Given the description of an element on the screen output the (x, y) to click on. 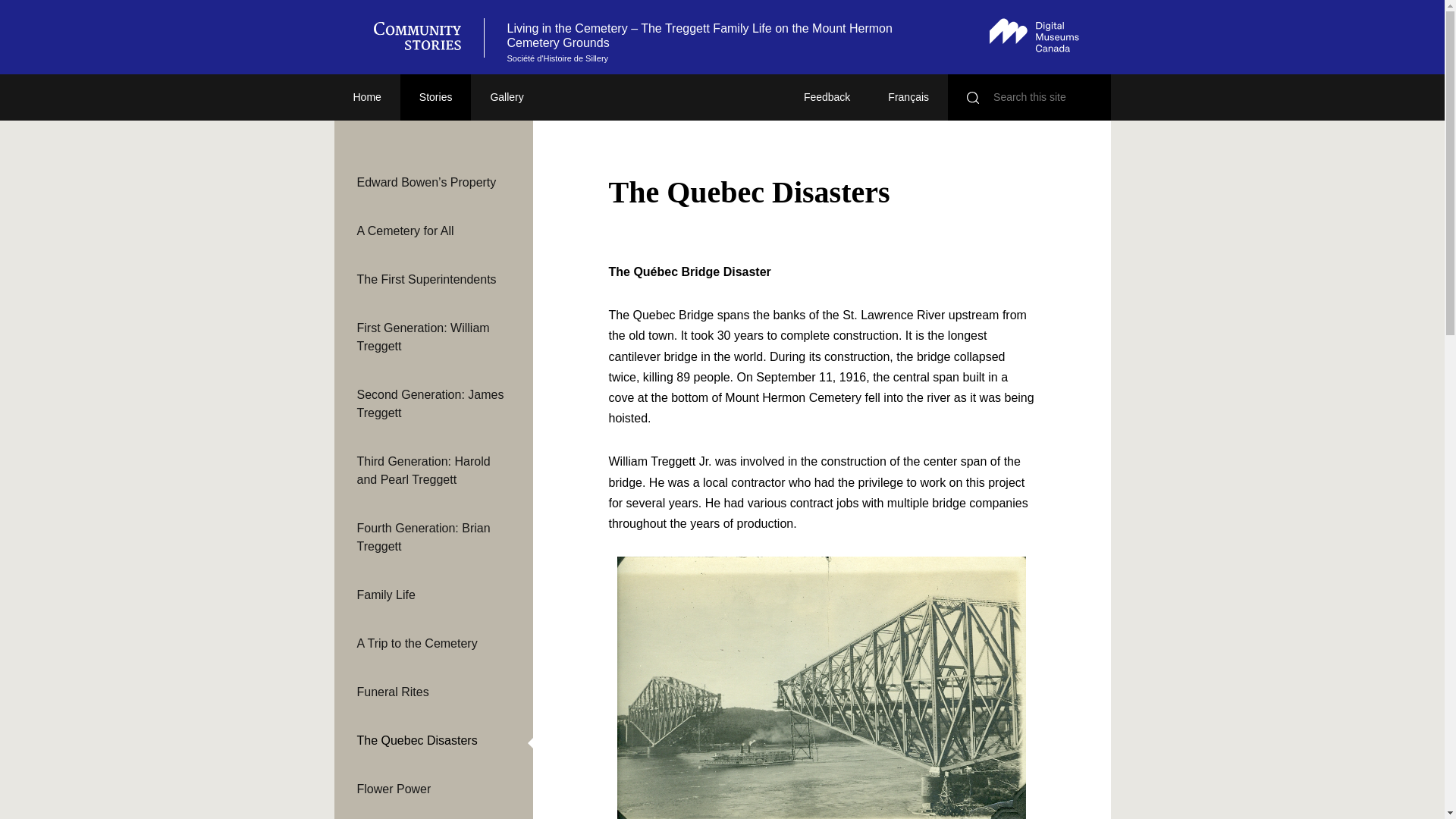
Community Stories (424, 37)
Gallery (505, 97)
The First Superintendents (432, 280)
Third Generation: Harold and Pearl Treggett (432, 470)
Digital Museums Canada (1034, 35)
Home (365, 97)
Stories (435, 97)
A Cemetery for All (432, 230)
Feedback (826, 97)
First Generation: William Treggett (432, 337)
